Given the description of an element on the screen output the (x, y) to click on. 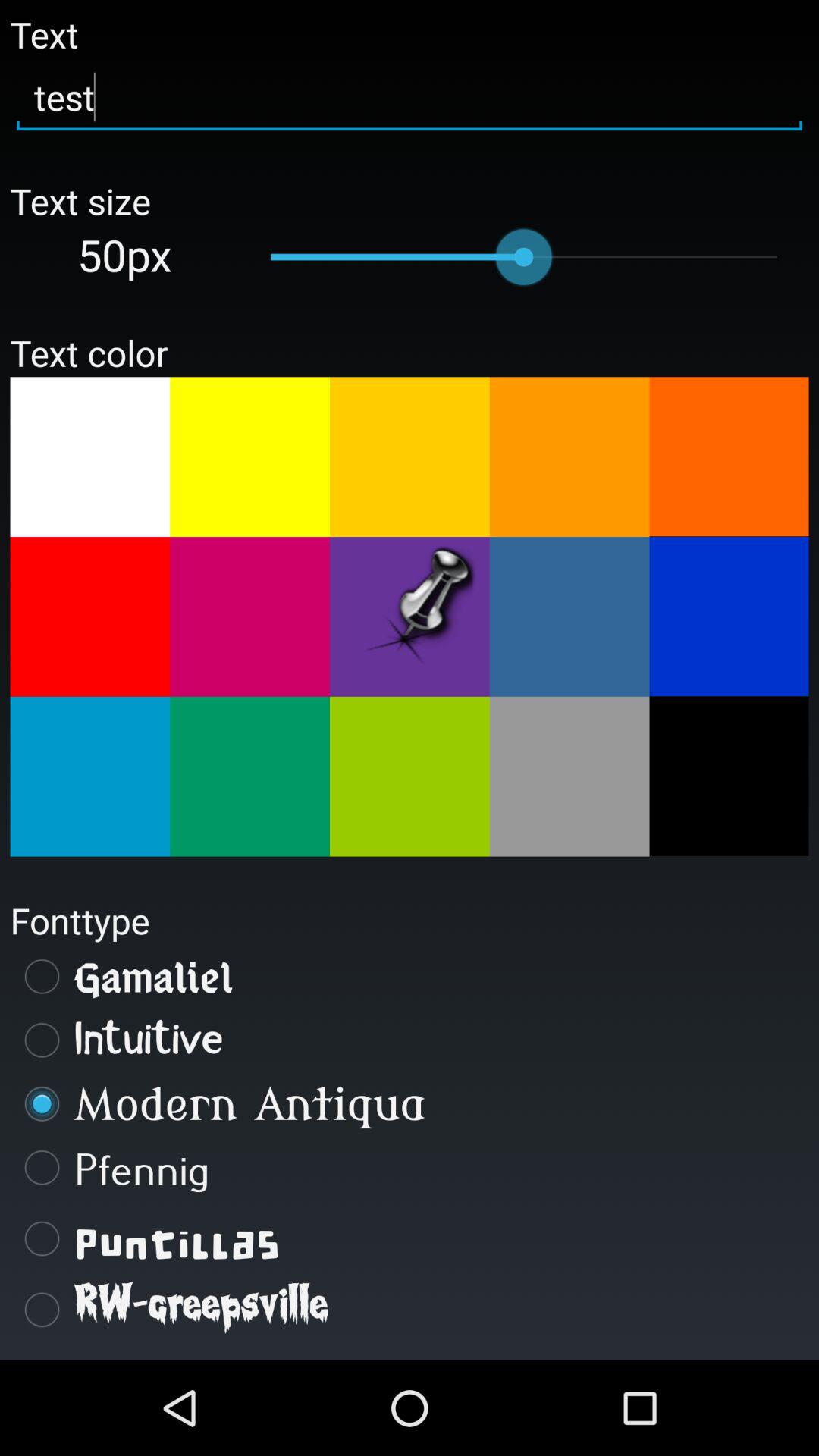
select text color (728, 616)
